Given the description of an element on the screen output the (x, y) to click on. 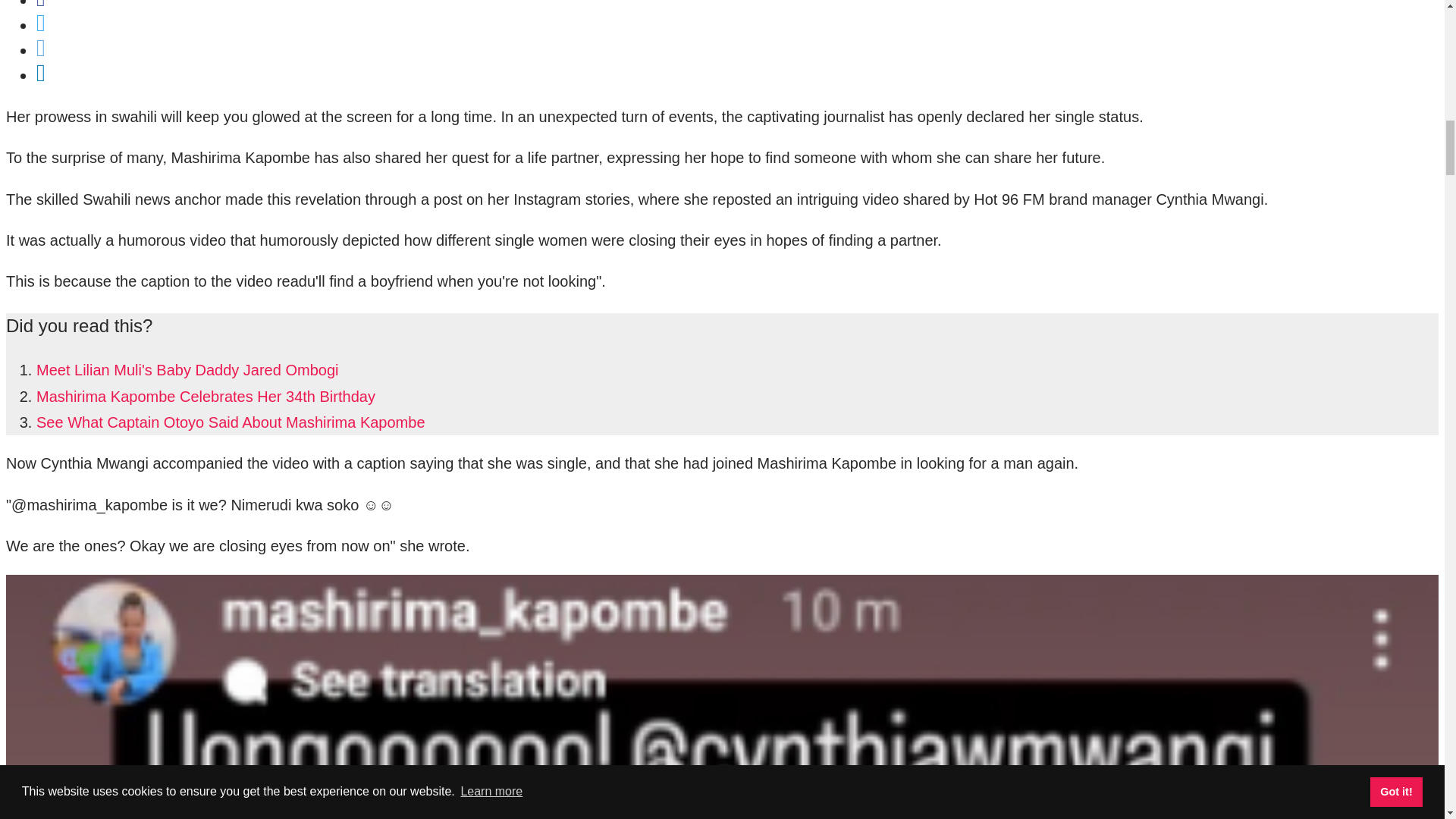
Share via Facebook (40, 4)
See What Captain Otoyo Said About Mashirima Kapombe (230, 422)
Meet Lilian Muli's Baby Daddy Jared Ombogi (186, 369)
See What Captain Otoyo Said About Mashirima Kapombe (230, 422)
Mashirima Kapombe Celebrates Her 34th Birthday (205, 396)
Mashirima Kapombe Celebrates Her 34th Birthday (205, 396)
Meet Lilian Muli's Baby Daddy Jared Ombogi (186, 369)
